Given the description of an element on the screen output the (x, y) to click on. 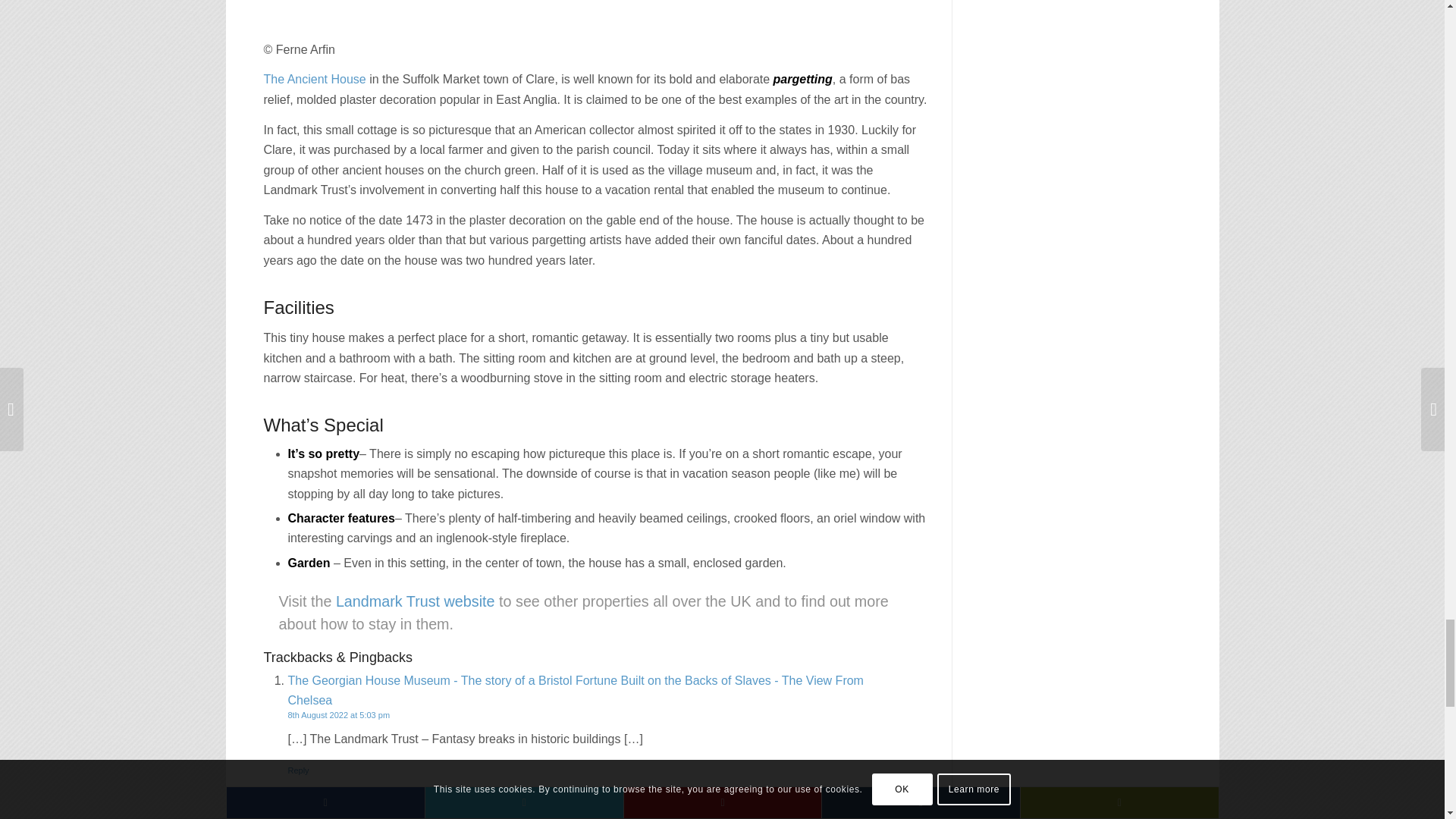
Reply (298, 769)
Landmark Trust website (415, 600)
20th September 2021 at 3:03 pm (349, 808)
8th August 2022 at 5:03 pm (339, 714)
The Ancient House (314, 78)
